Given the description of an element on the screen output the (x, y) to click on. 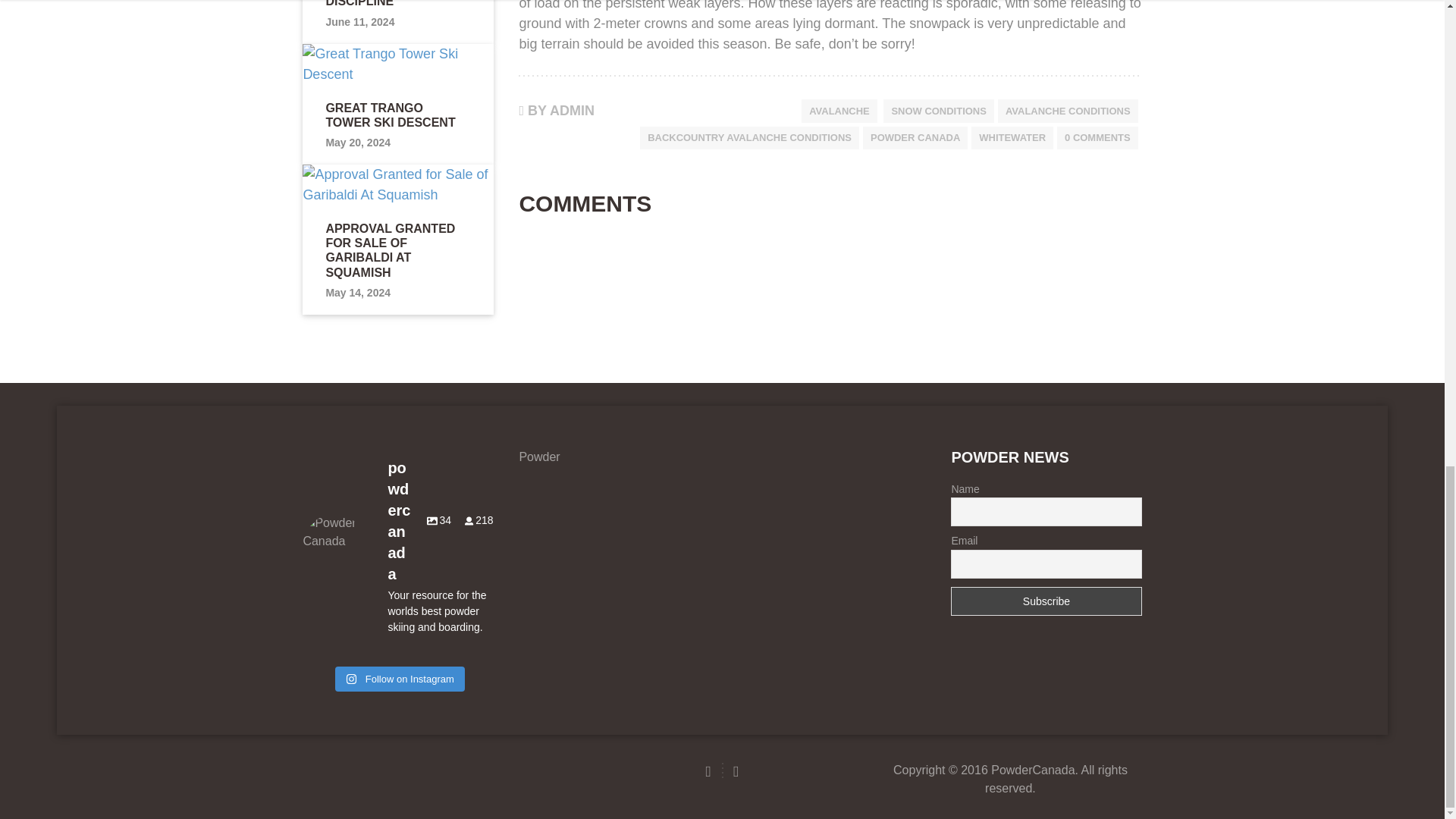
Subscribe (1045, 601)
